Given the description of an element on the screen output the (x, y) to click on. 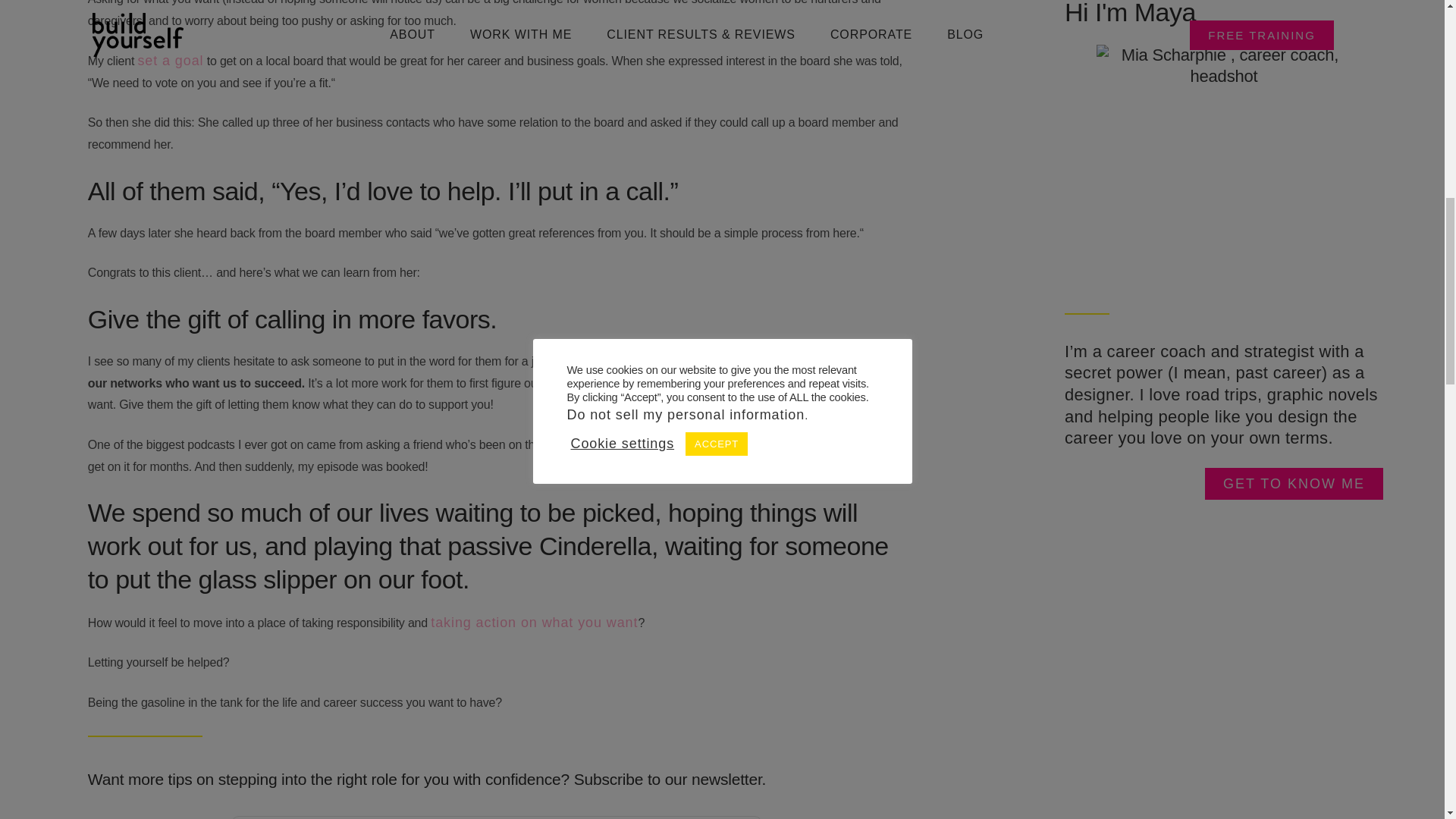
taking action on what you want (533, 622)
set a goal (169, 60)
GET TO KNOW ME (1294, 483)
